Given the description of an element on the screen output the (x, y) to click on. 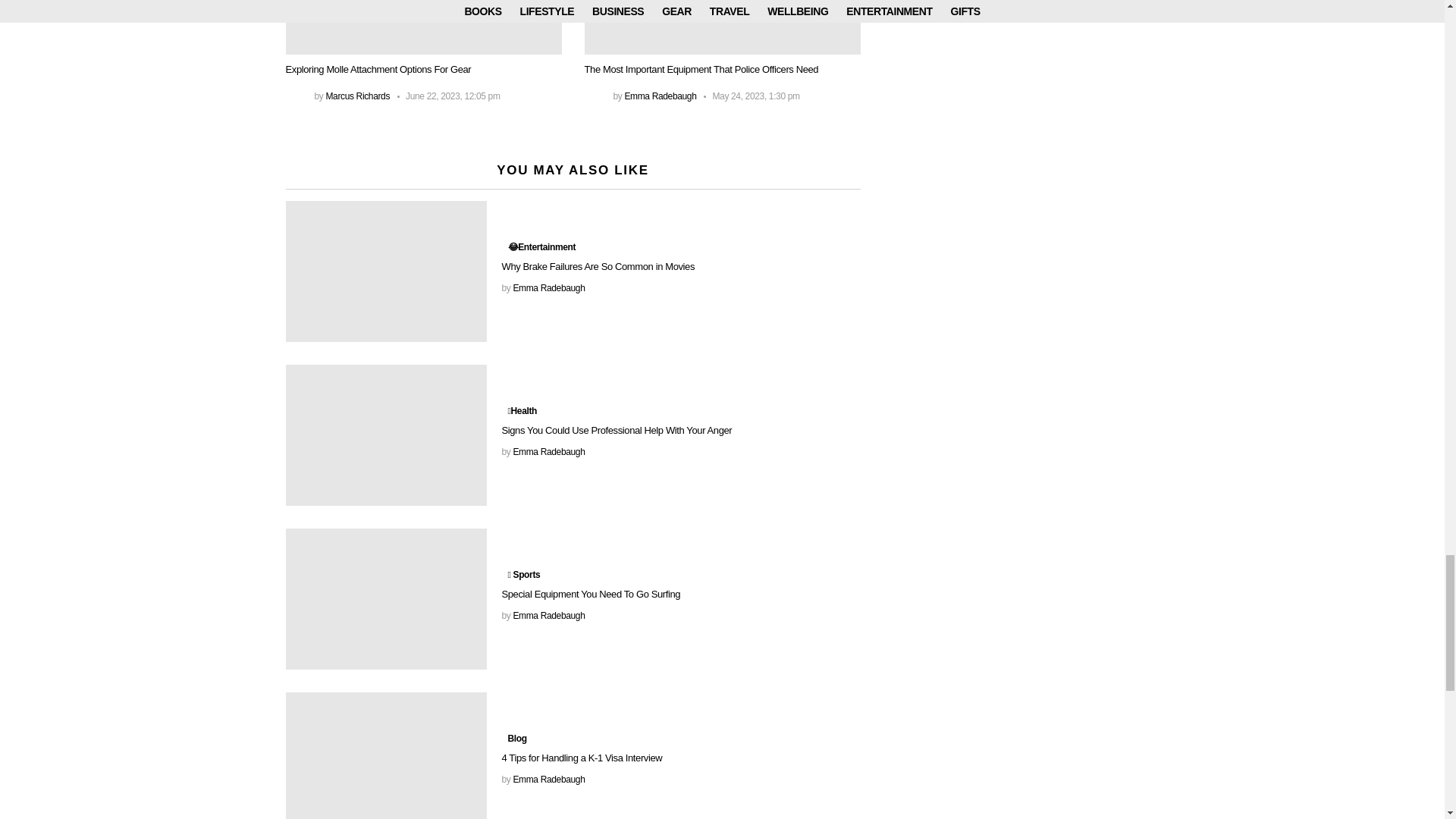
Posts by Emma Radebaugh (548, 451)
Exploring Molle Attachment Options For Gear (422, 27)
The Most Important Equipment That Police Officers Need (721, 27)
Posts by Emma Radebaugh (548, 287)
Posts by Emma Radebaugh (659, 95)
Posts by Marcus Richards (357, 95)
Signs You Could Use Professional Help With Your Anger (385, 435)
Why Brake Failures Are So Common in Movies (385, 271)
Special Equipment You Need To Go Surfing (385, 598)
